Given the description of an element on the screen output the (x, y) to click on. 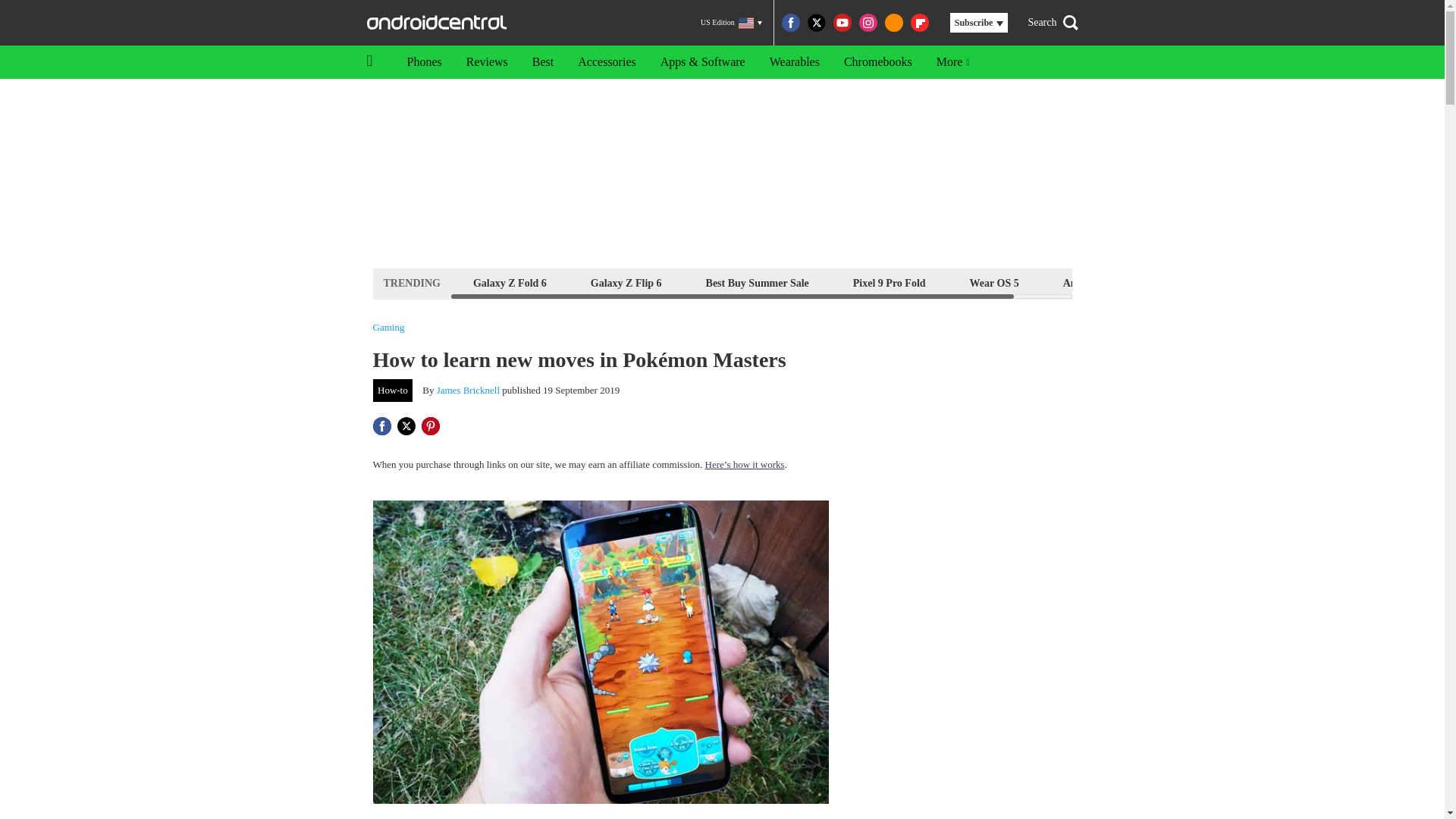
Galaxy Z Fold 6 (509, 282)
Wear OS 5 (994, 282)
Galaxy Z Flip 6 (625, 282)
Android 15 (1088, 282)
Best (542, 61)
Phones (423, 61)
Reviews (486, 61)
US Edition (731, 22)
Chromebooks (877, 61)
Pixel 9 Pro Fold (889, 282)
Gaming (388, 327)
Accessories (606, 61)
How-to (392, 390)
Wearables (794, 61)
James Bricknell (467, 389)
